Given the description of an element on the screen output the (x, y) to click on. 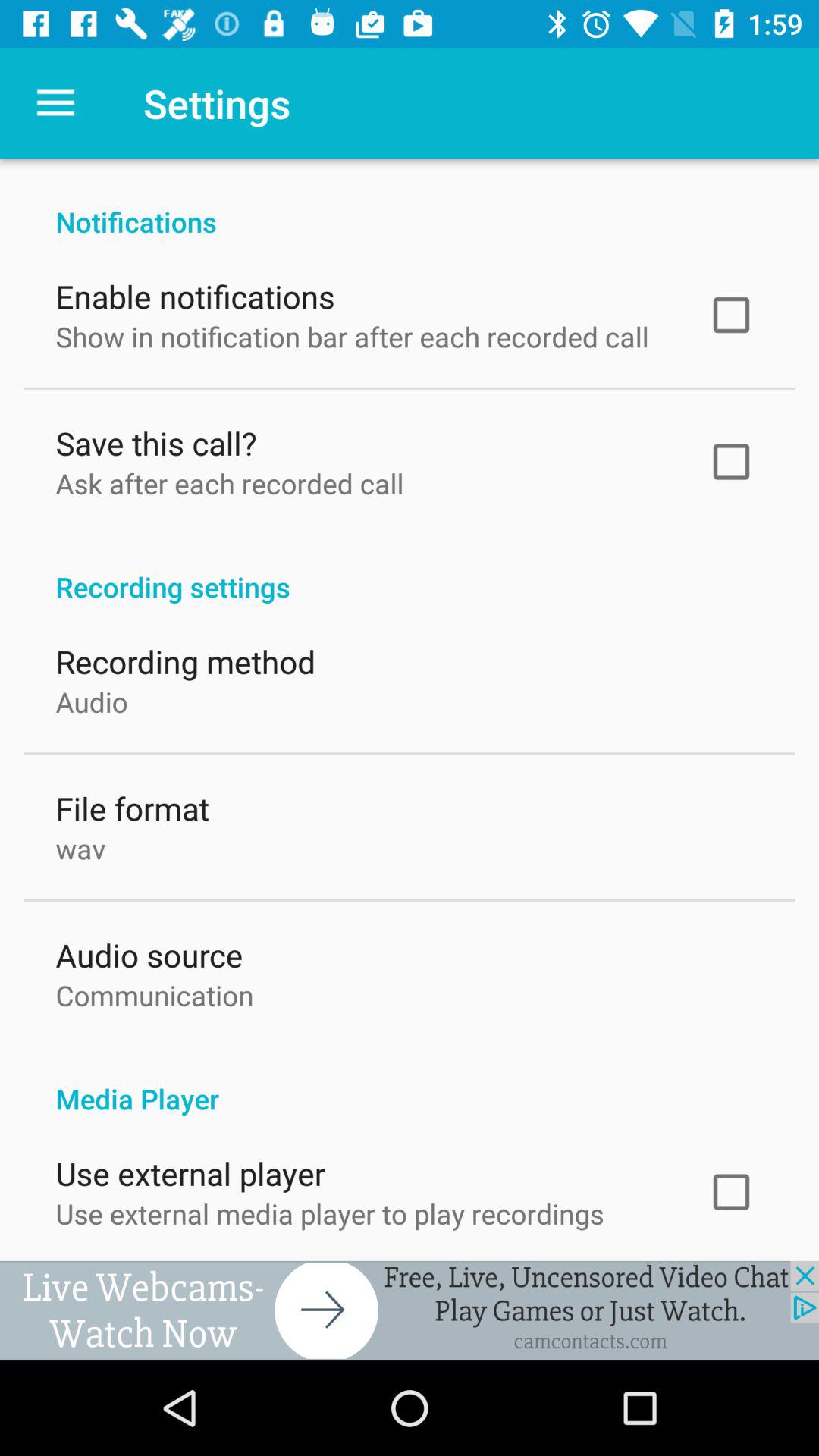
choose the icon above the media player item (154, 991)
